Given the description of an element on the screen output the (x, y) to click on. 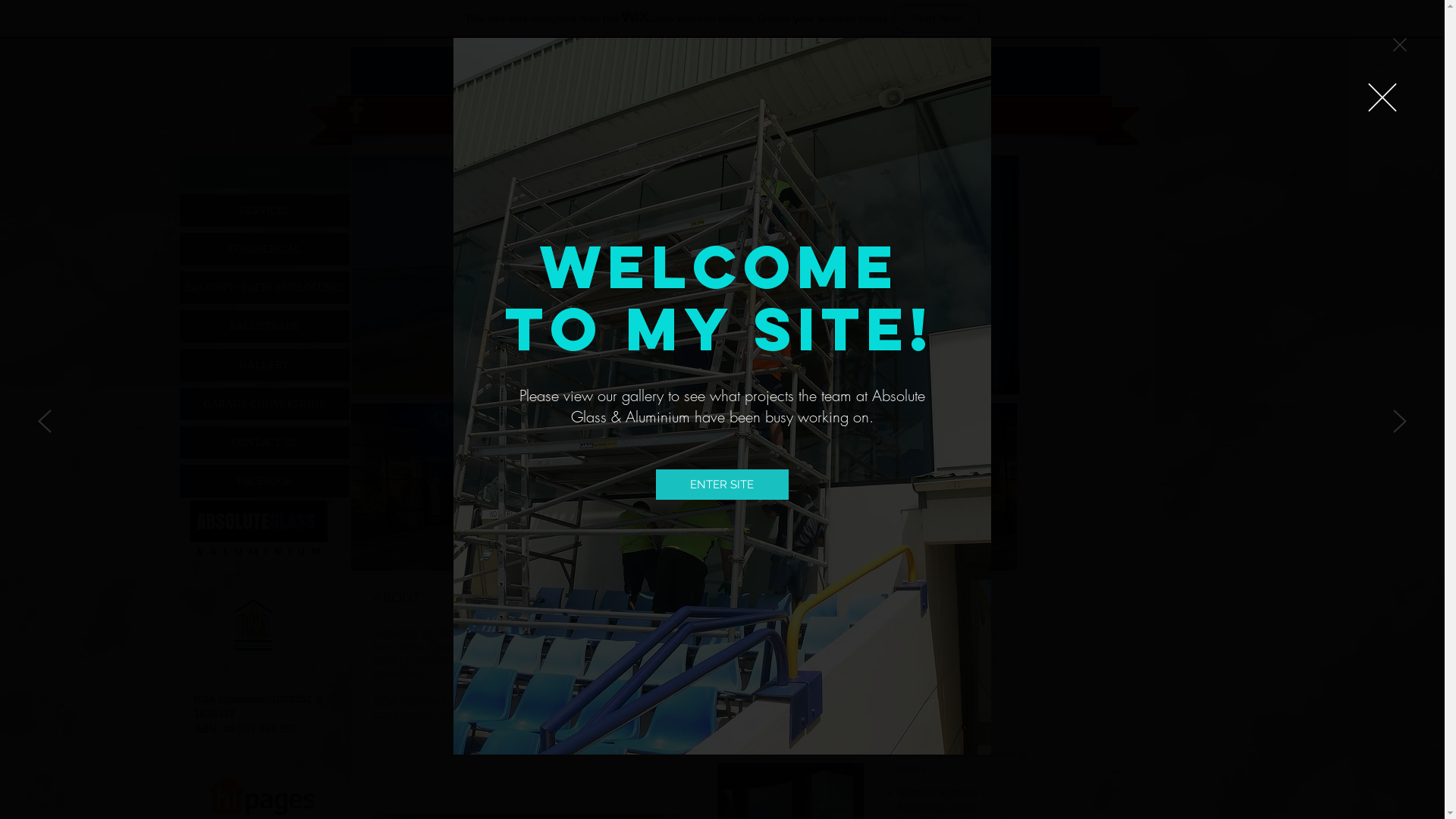
SERVICES Element type: text (263, 210)
GARAGE CONVERSIONS Element type: text (263, 402)
BALUSTRADE Element type: text (263, 325)
Facebook Like Element type: hover (467, 791)
Back to site Element type: hover (1382, 97)
CONTACT US Element type: text (263, 442)
GALLERY Element type: text (263, 364)
BALCONY/ PATIO ENCLOSURES Element type: text (263, 287)
COMMERCIAL Element type: text (263, 248)
HOME Element type: text (263, 170)
FACEBOOK Element type: text (263, 480)
